Given the description of an element on the screen output the (x, y) to click on. 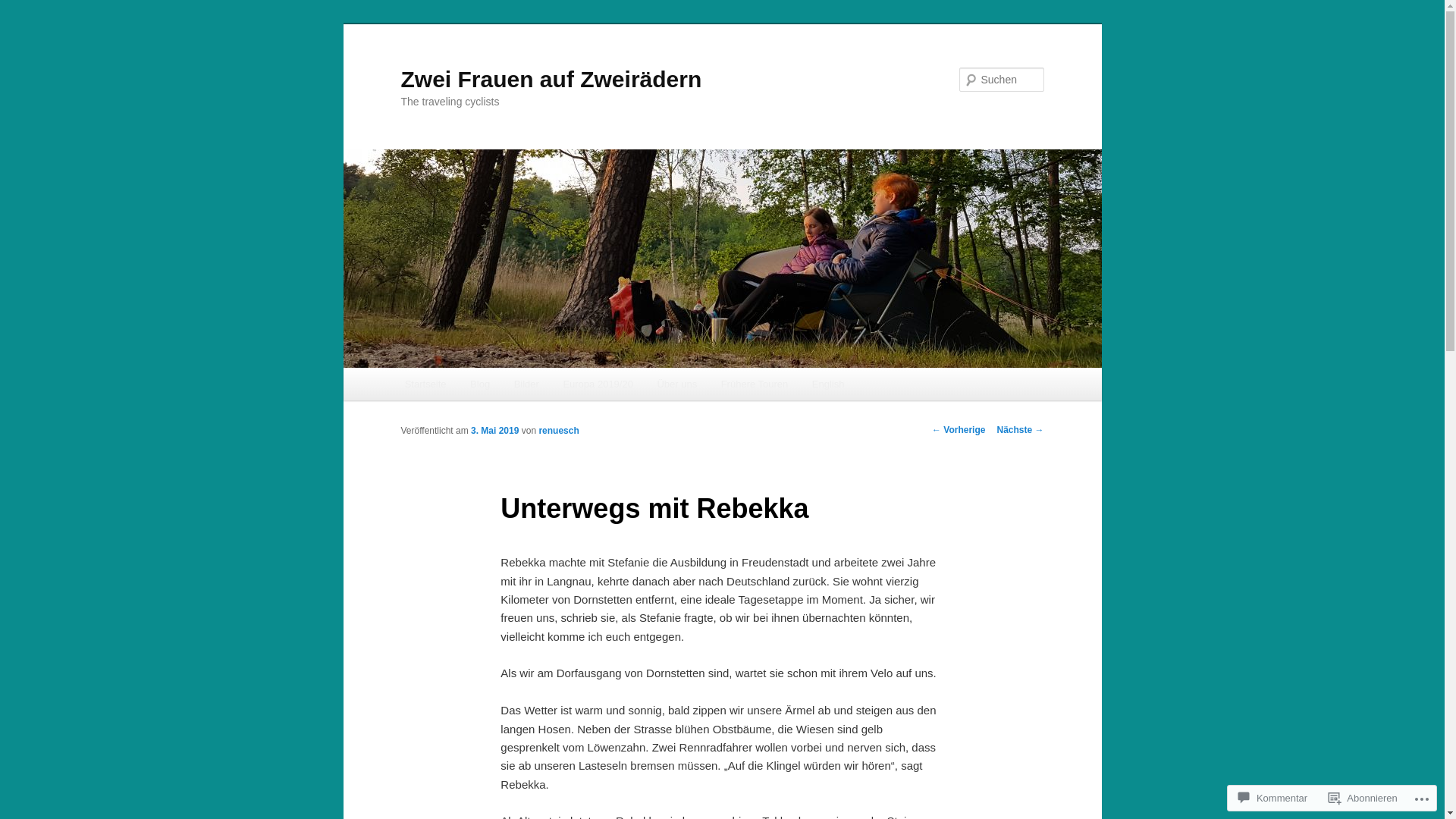
Bilder Element type: text (526, 383)
Europa 2019/20 Element type: text (598, 383)
English Element type: text (828, 383)
Kommentar Element type: text (1272, 797)
Zum Inhalt wechseln Element type: text (22, 22)
Startseite Element type: text (425, 383)
renuesch Element type: text (558, 430)
3. Mai 2019 Element type: text (494, 430)
Suchen Element type: text (25, 8)
Abonnieren Element type: text (1362, 797)
Blog Element type: text (480, 383)
